Given the description of an element on the screen output the (x, y) to click on. 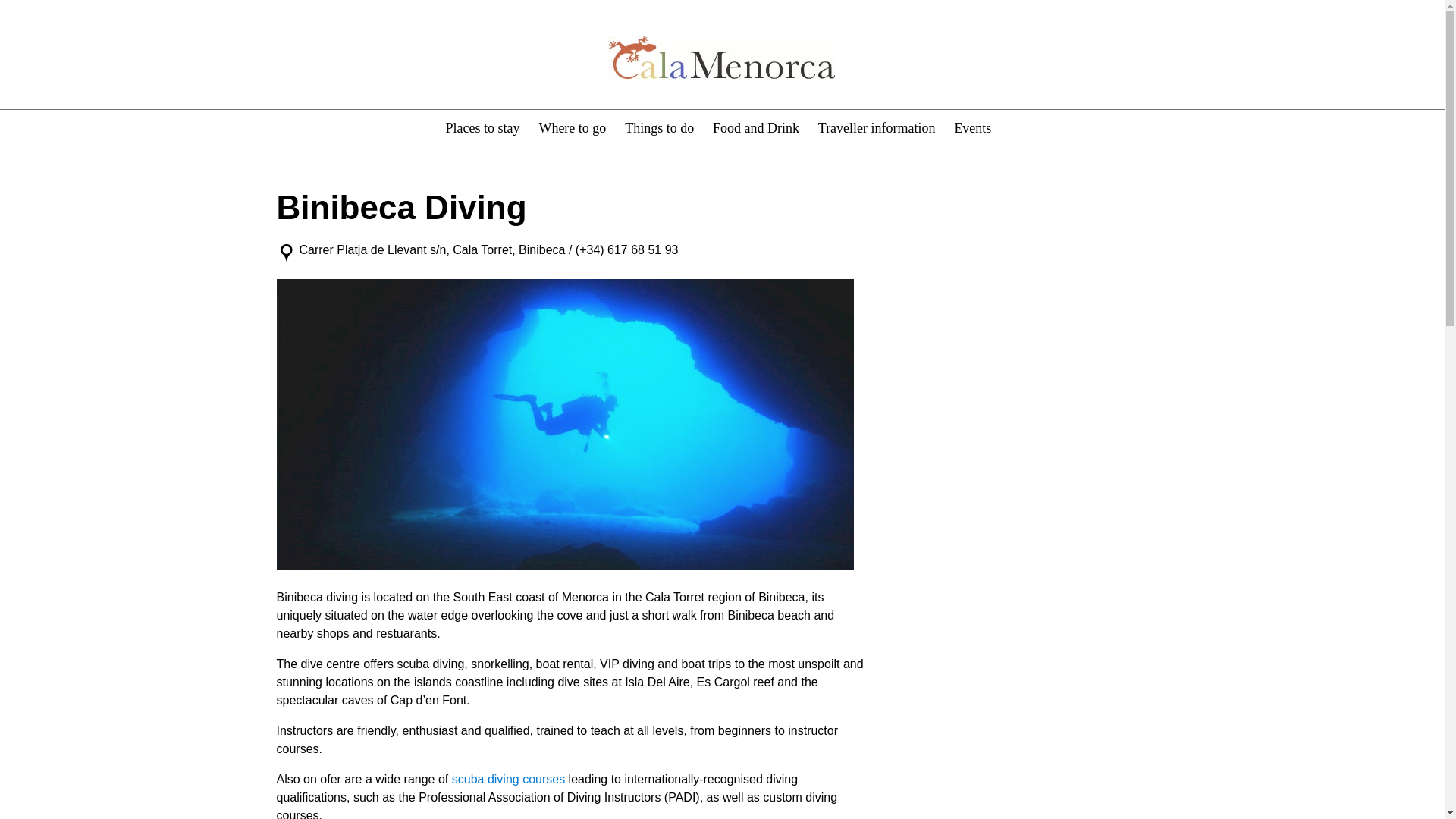
Places to stay (482, 127)
Events (972, 127)
Things to do (659, 127)
Open side navigation menu (283, 55)
Traveller information (877, 127)
scuba diving courses (507, 779)
Open Search Menu (1160, 55)
Where to go (571, 127)
Food and Drink (756, 127)
